Given the description of an element on the screen output the (x, y) to click on. 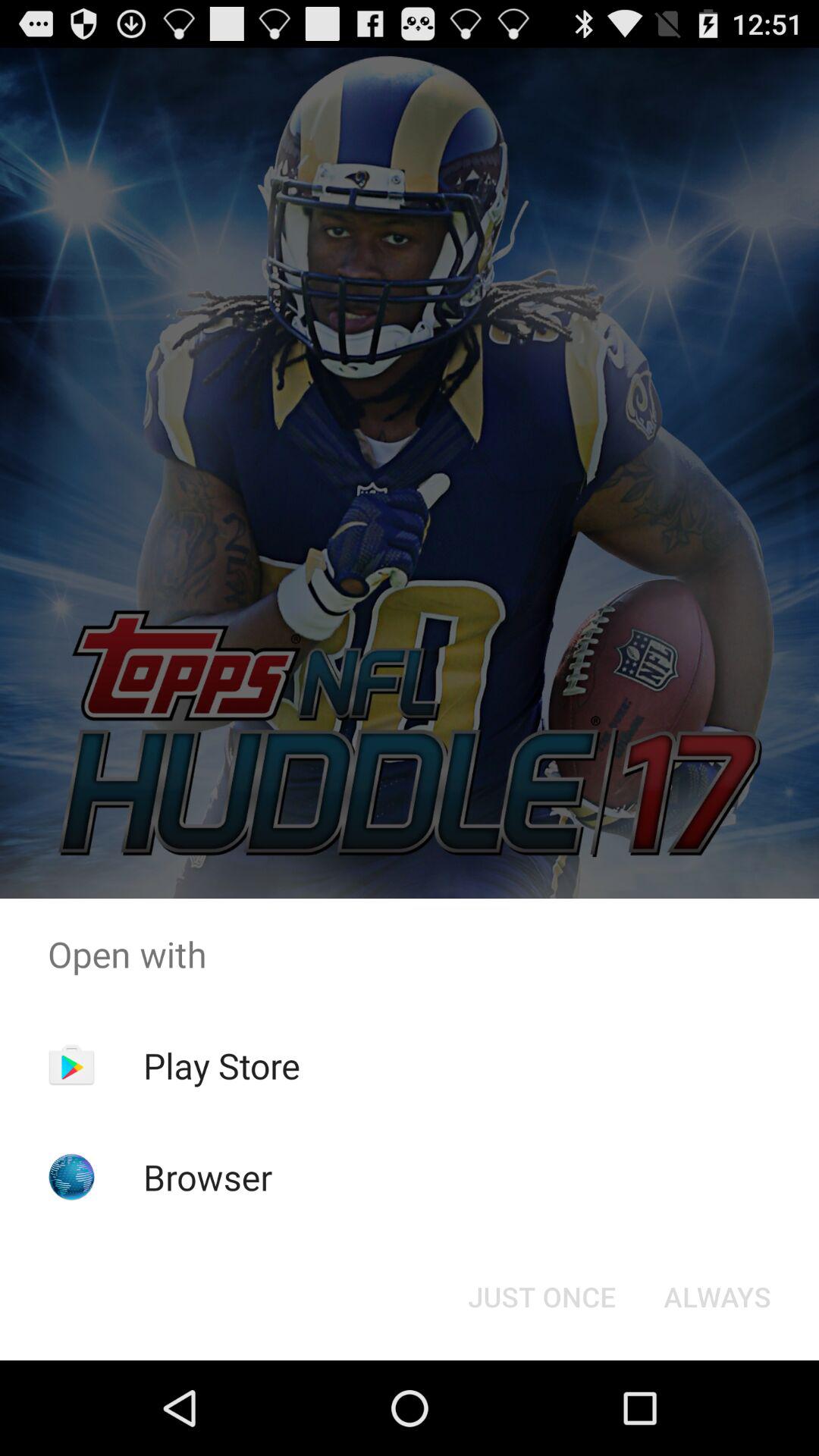
scroll to just once button (541, 1296)
